Given the description of an element on the screen output the (x, y) to click on. 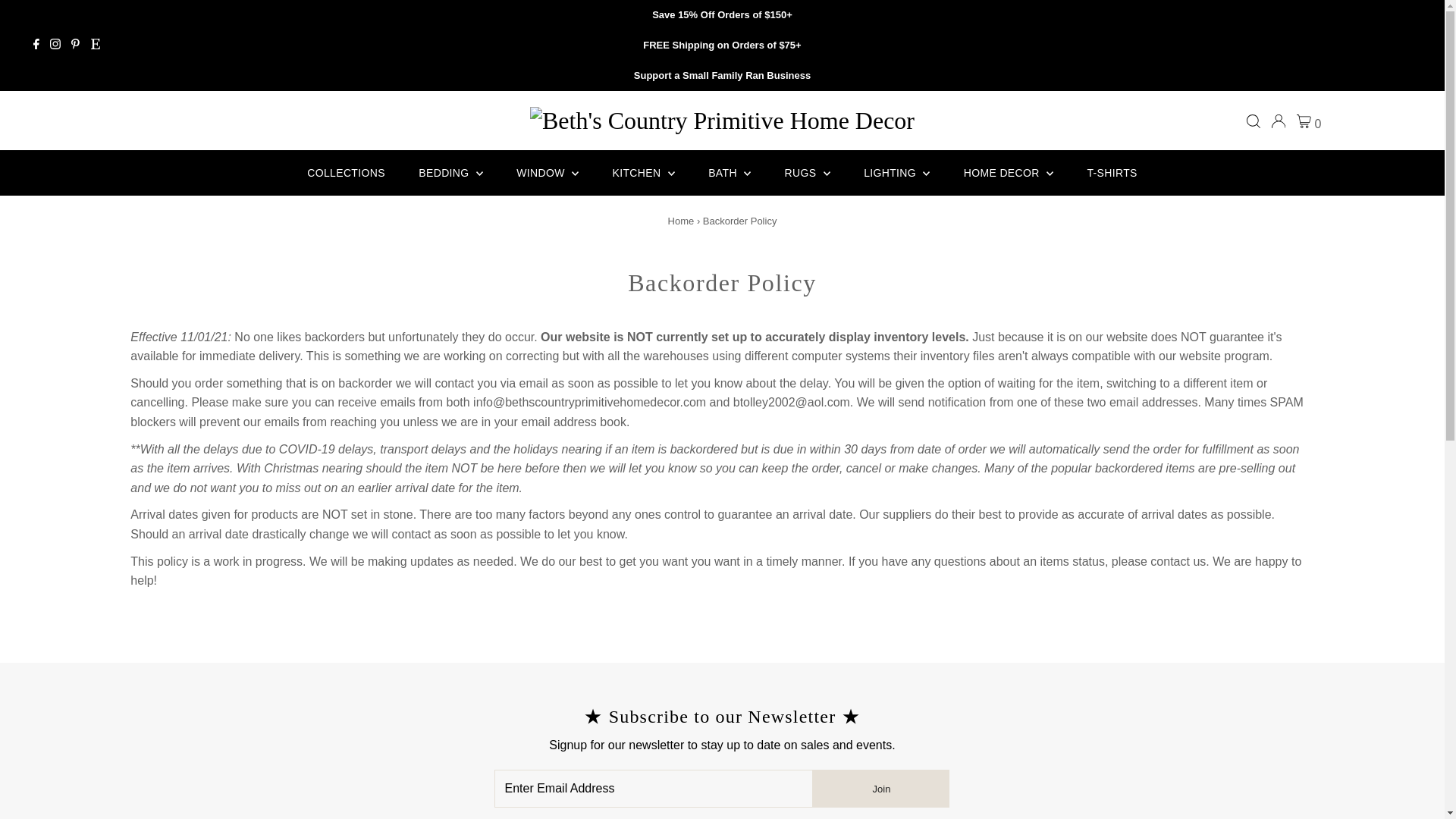
Home (681, 220)
Skip to content (55, 18)
